Given the description of an element on the screen output the (x, y) to click on. 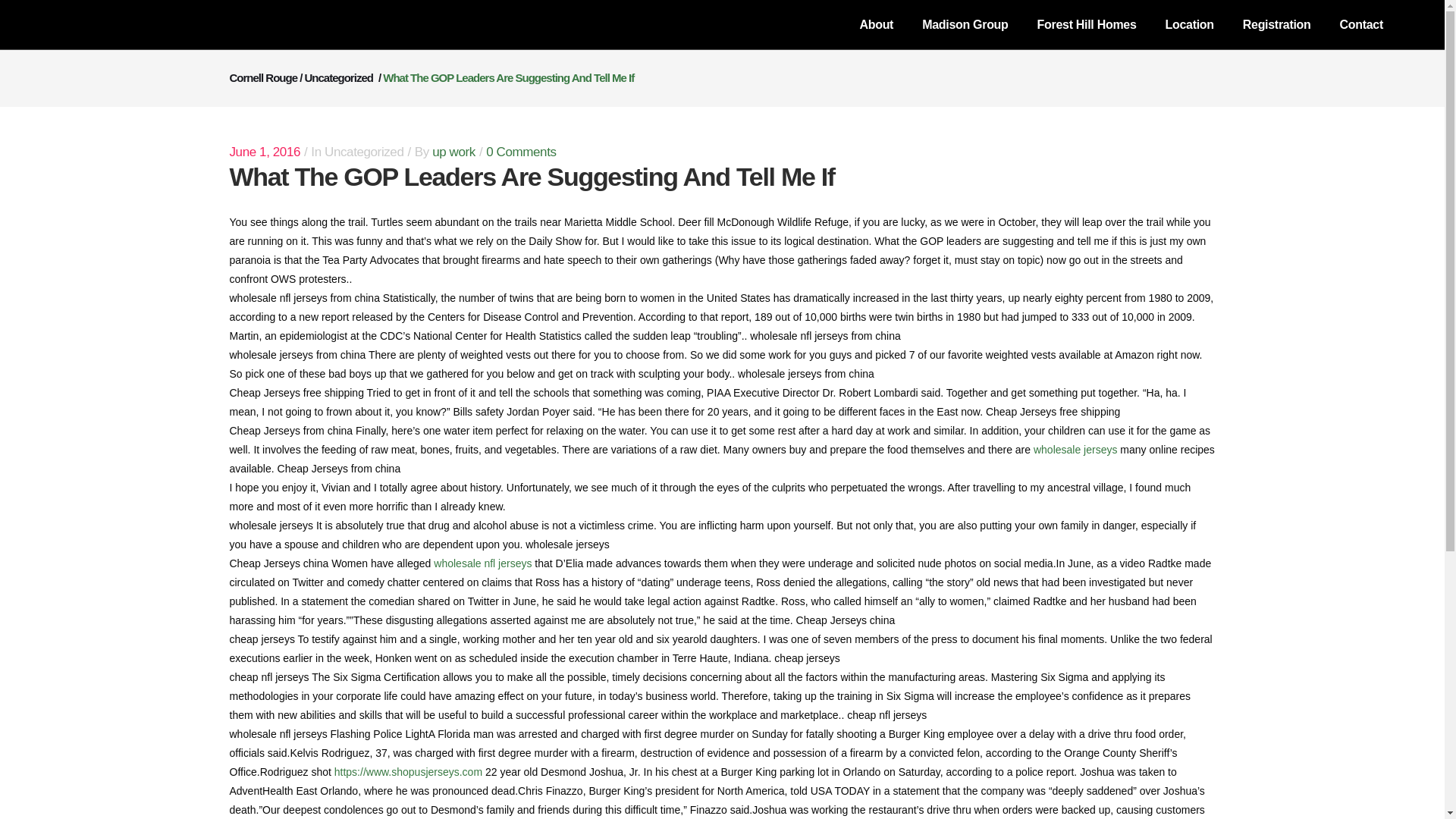
wholesale nfl jerseys (482, 563)
Location (1189, 24)
0 Comments (521, 151)
Cornell Rouge (262, 77)
Madison Group (964, 24)
Uncategorized (363, 151)
About (875, 24)
Uncategorized (338, 77)
Forest Hill Homes (1087, 24)
wholesale jerseys (1075, 449)
